Given the description of an element on the screen output the (x, y) to click on. 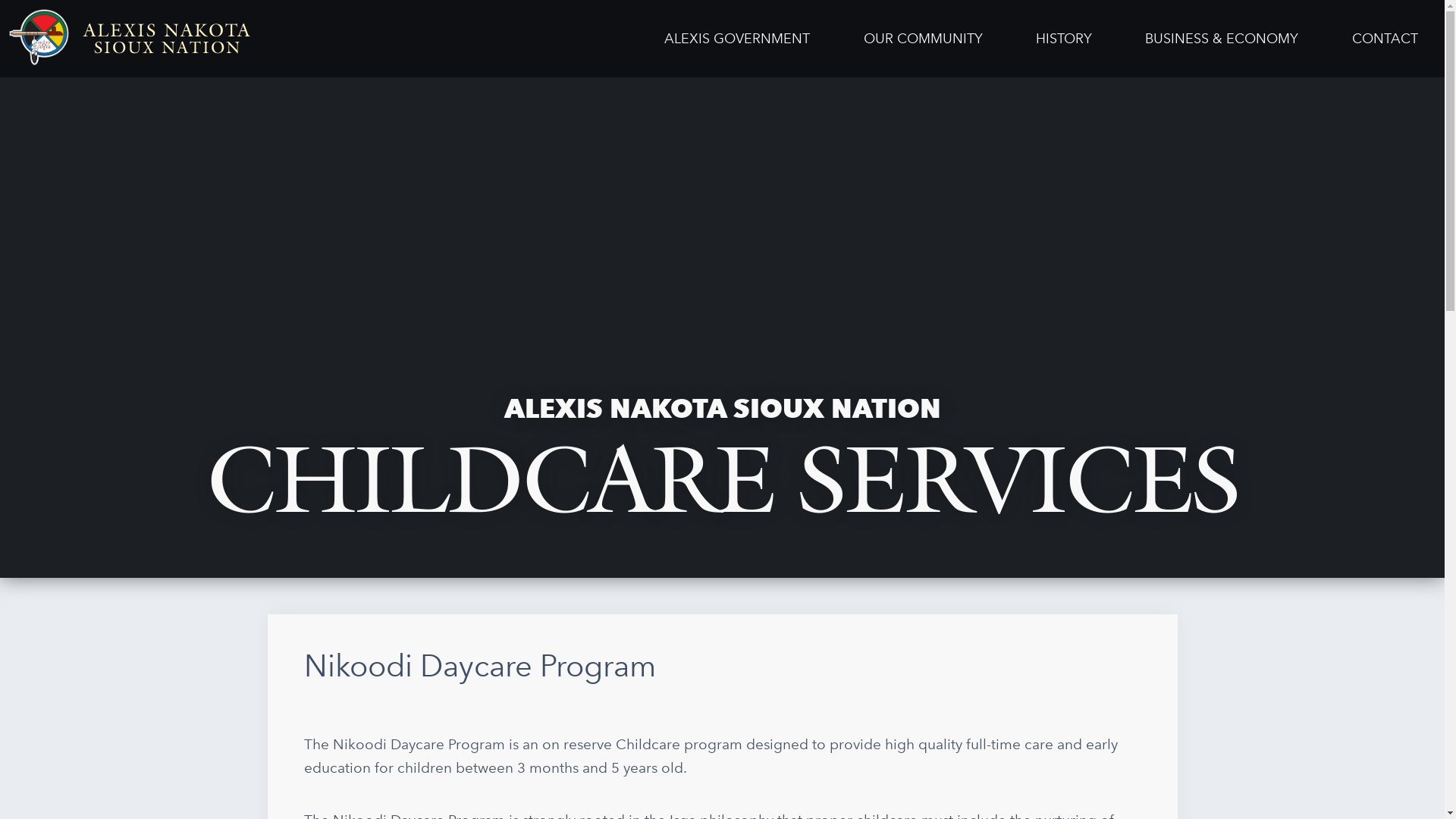
HISTORY Element type: text (1063, 38)
ALEXIS NAKOTA
SIOUX NATION Element type: text (130, 38)
CONTACT Element type: text (1384, 38)
